Given the description of an element on the screen output the (x, y) to click on. 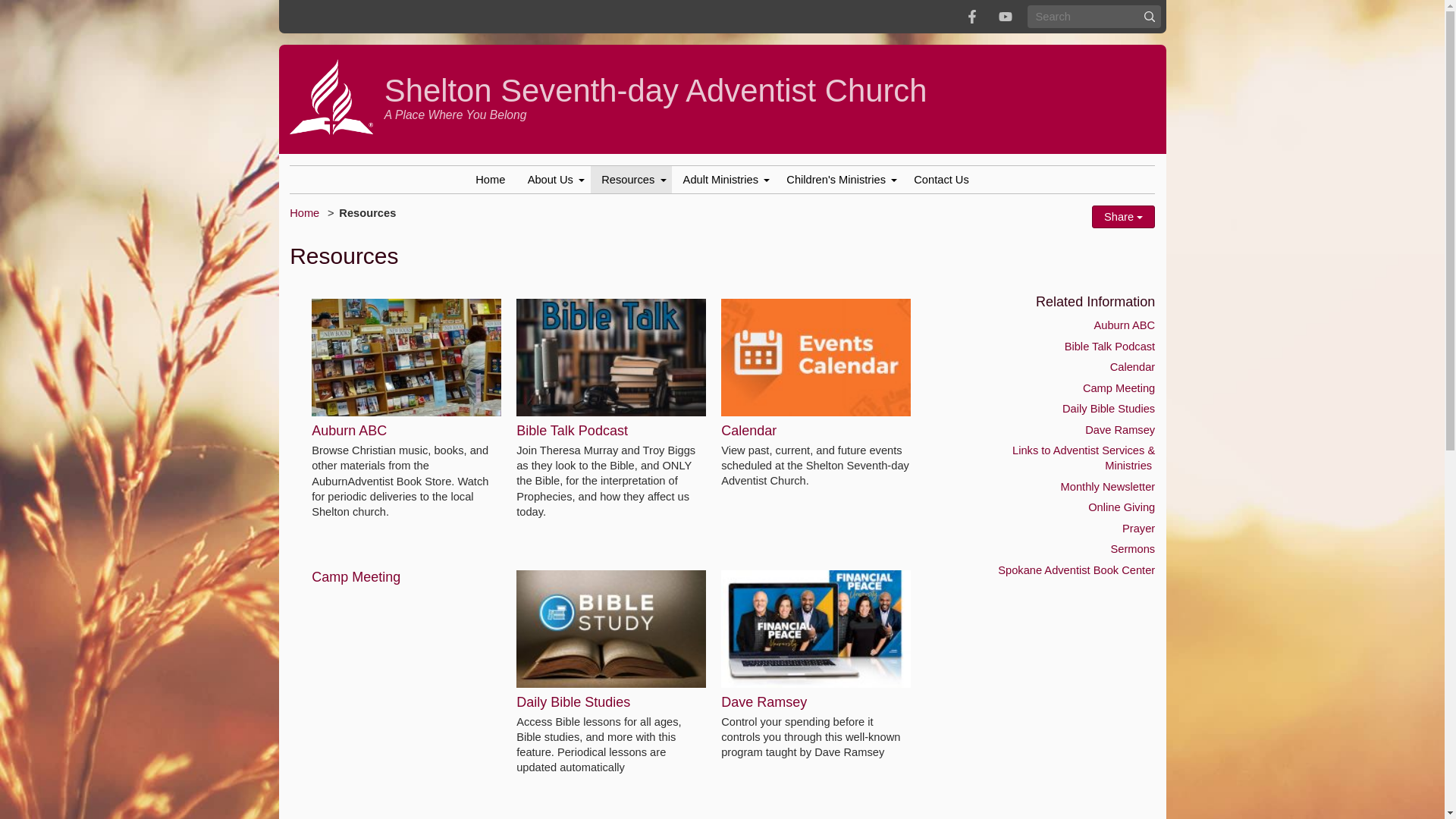
Resources (367, 213)
Share (1123, 216)
Home (303, 213)
Children's Ministries (839, 180)
About Us (553, 180)
Adult Ministries (723, 180)
Resources (631, 180)
Contact Us (940, 180)
Home (490, 180)
